Given the description of an element on the screen output the (x, y) to click on. 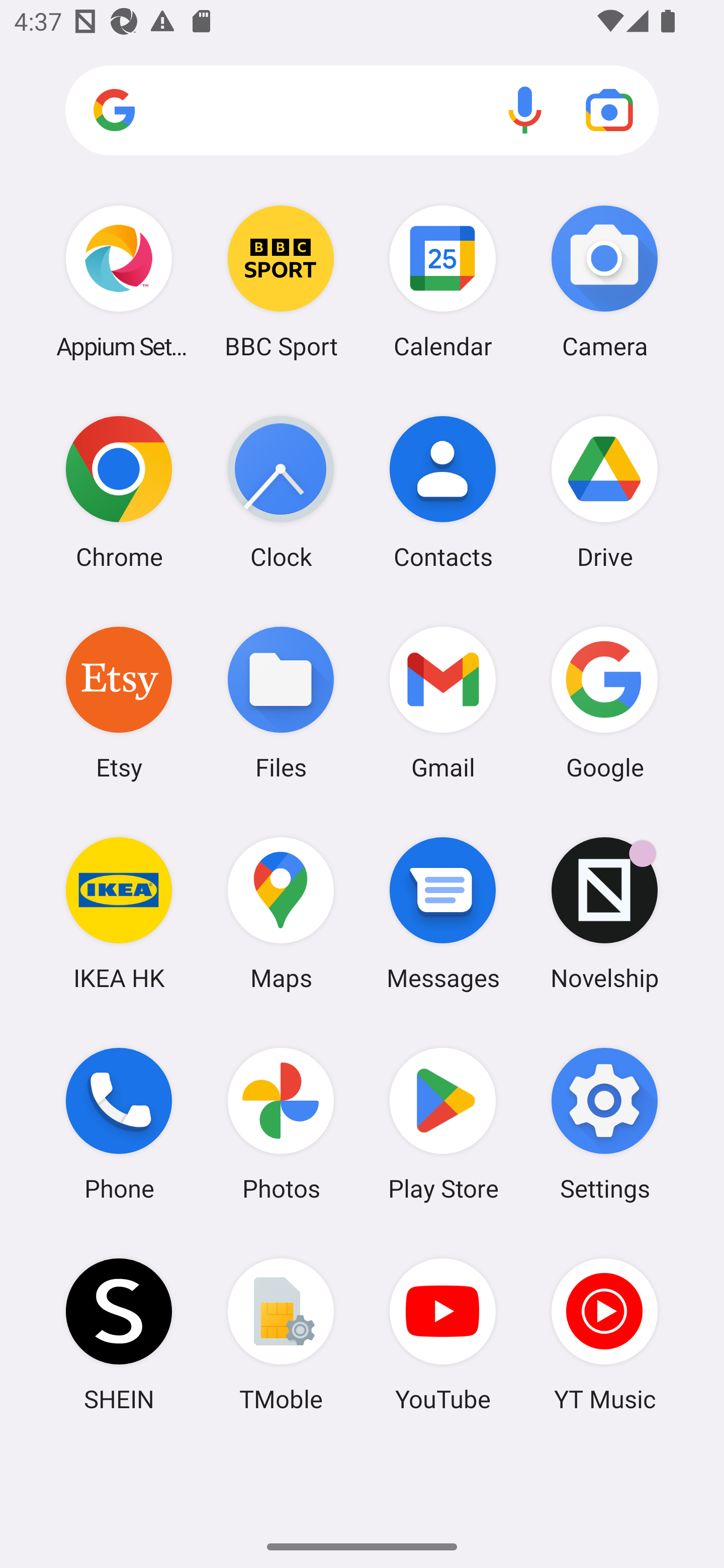
Search apps, web and more (361, 110)
Voice search (524, 109)
Google Lens (608, 109)
Appium Settings (118, 281)
BBC Sport (280, 281)
Calendar (443, 281)
Camera (604, 281)
Chrome (118, 492)
Clock (280, 492)
Contacts (443, 492)
Drive (604, 492)
Etsy (118, 702)
Files (280, 702)
Gmail (443, 702)
Google (604, 702)
IKEA HK (118, 913)
Maps (280, 913)
Messages (443, 913)
Novelship Novelship has 6 notifications (604, 913)
Phone (118, 1124)
Photos (280, 1124)
Play Store (443, 1124)
Settings (604, 1124)
SHEIN (118, 1334)
TMoble (280, 1334)
YouTube (443, 1334)
YT Music (604, 1334)
